Given the description of an element on the screen output the (x, y) to click on. 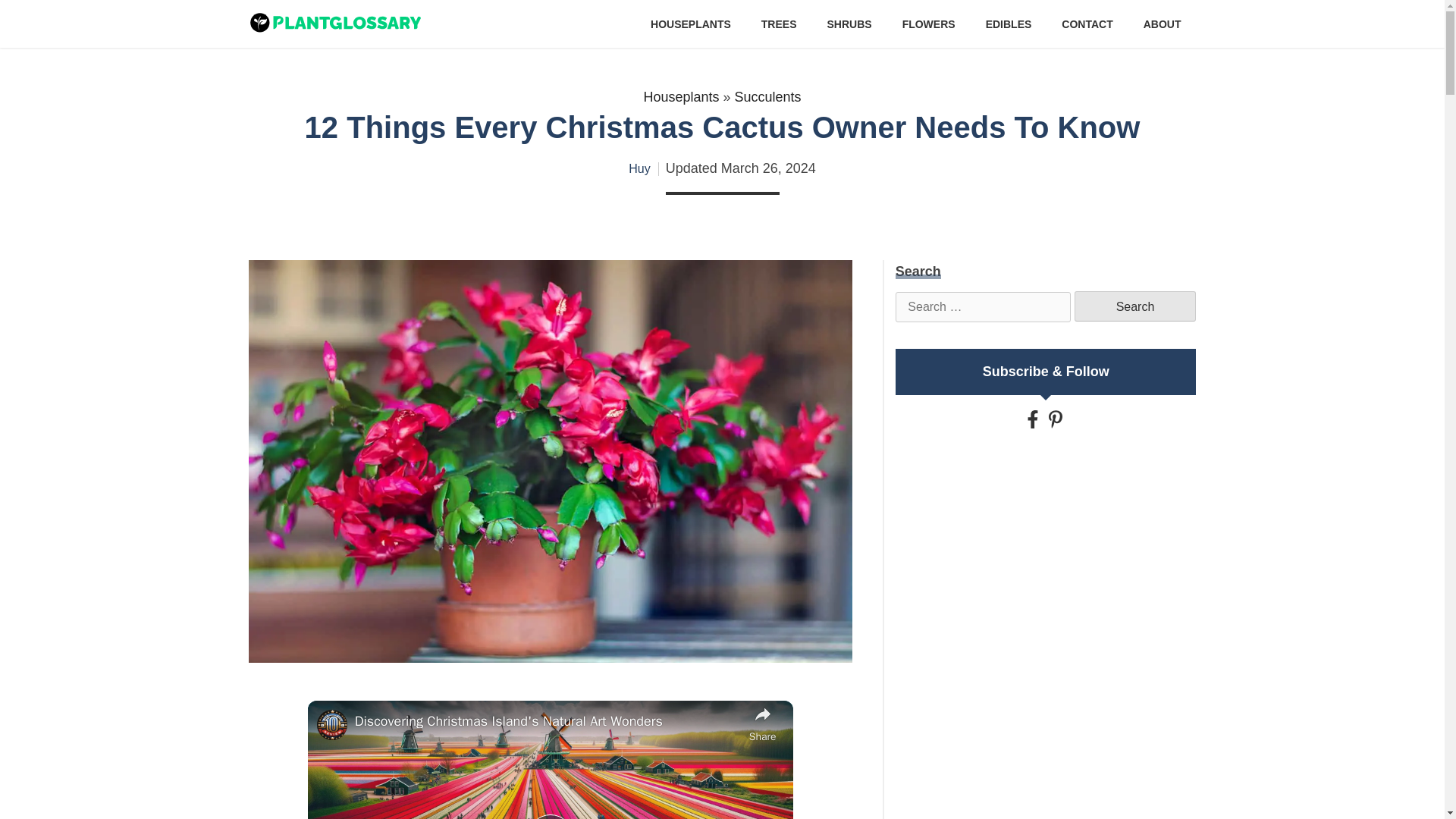
SHRUBS (848, 23)
Huy (638, 168)
EDIBLES (1008, 23)
Search (1134, 306)
Houseplants (681, 97)
ABOUT (1161, 23)
Play Video (550, 816)
Play Video (550, 816)
CONTACT (1086, 23)
TREES (778, 23)
HOUSEPLANTS (690, 23)
Search (1134, 306)
Discovering Christmas Island's Natural Art Wonders (548, 721)
Succulents (768, 97)
FLOWERS (928, 23)
